Given the description of an element on the screen output the (x, y) to click on. 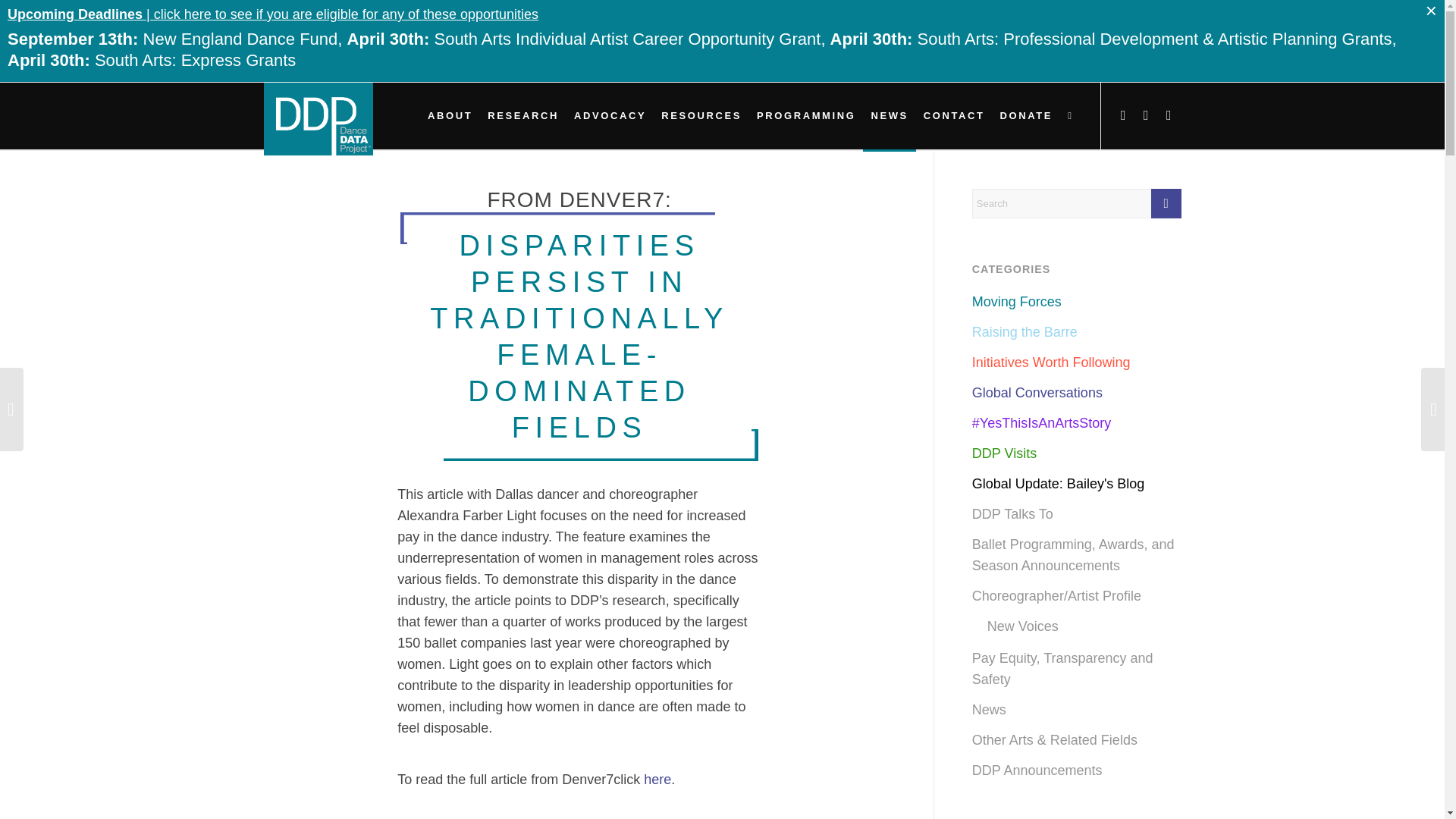
ADVOCACY (609, 115)
PROGRAMMING (806, 115)
RESEARCH (523, 115)
X (1124, 115)
Click to start search (1165, 203)
ABOUT (450, 115)
DONATE (1026, 115)
Instagram (1169, 115)
RESOURCES (701, 115)
CONTACT (953, 115)
Facebook (1146, 115)
